Given the description of an element on the screen output the (x, y) to click on. 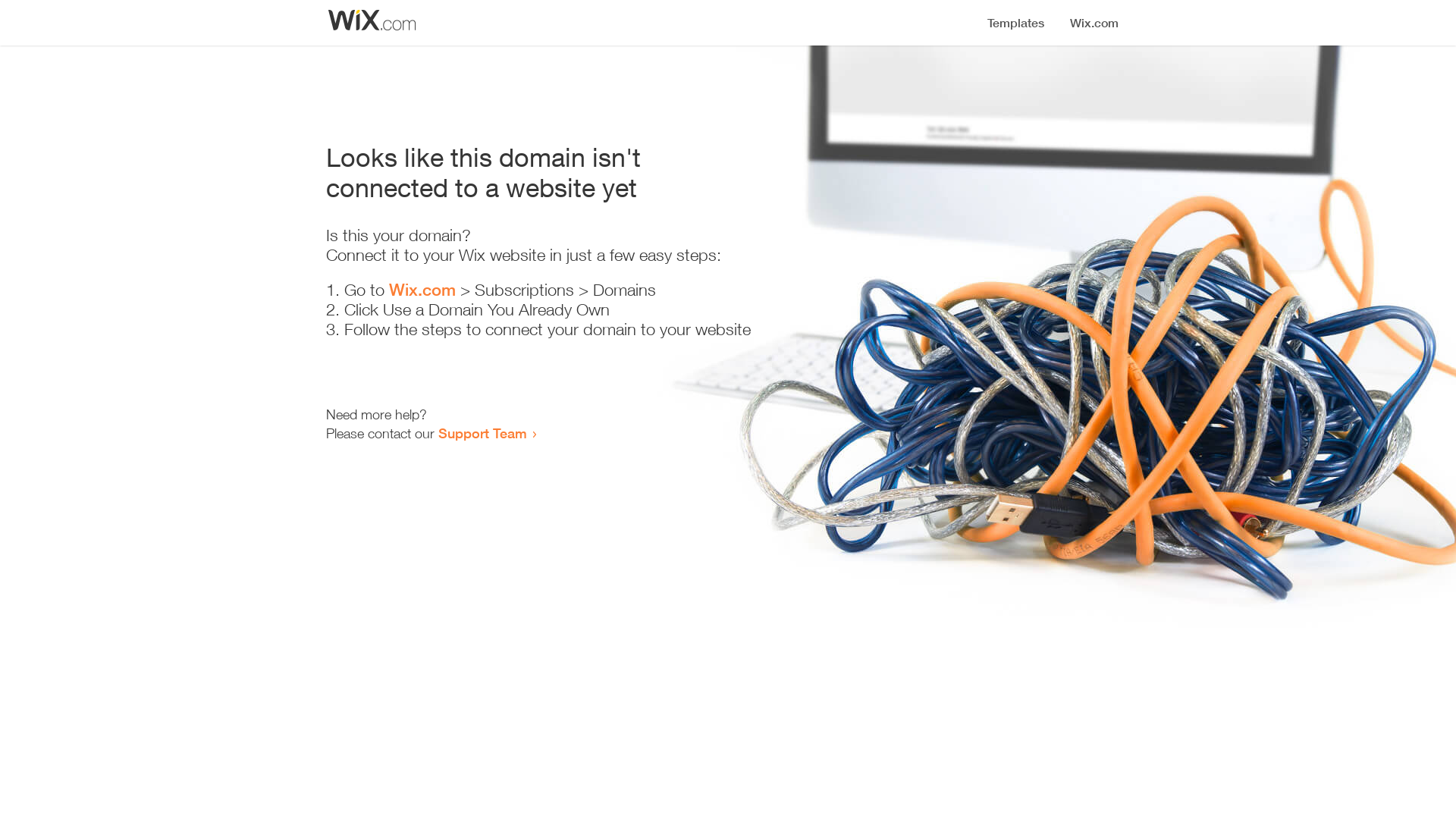
Support Team Element type: text (482, 432)
Wix.com Element type: text (422, 289)
